Given the description of an element on the screen output the (x, y) to click on. 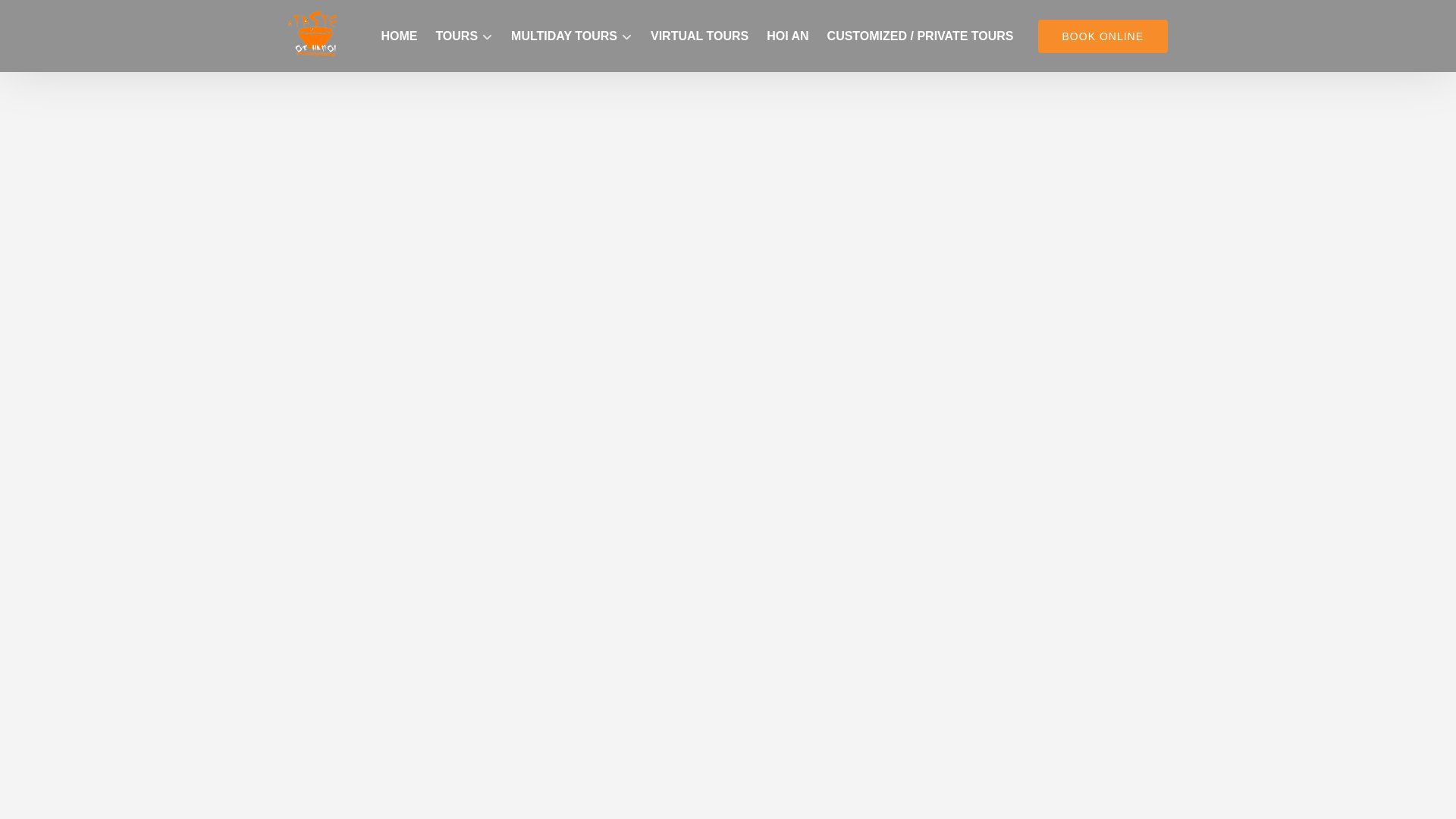
VIRTUAL TOURS (699, 35)
Open Multiday Tours Menu (569, 26)
Skip to footer (42, 16)
Skip to content (47, 16)
Open Tours Menu (467, 32)
BOOK ONLINE (1102, 36)
Skip to primary navigation (77, 16)
TOURS (464, 35)
HOI AN (786, 35)
HOME (398, 35)
